Given the description of an element on the screen output the (x, y) to click on. 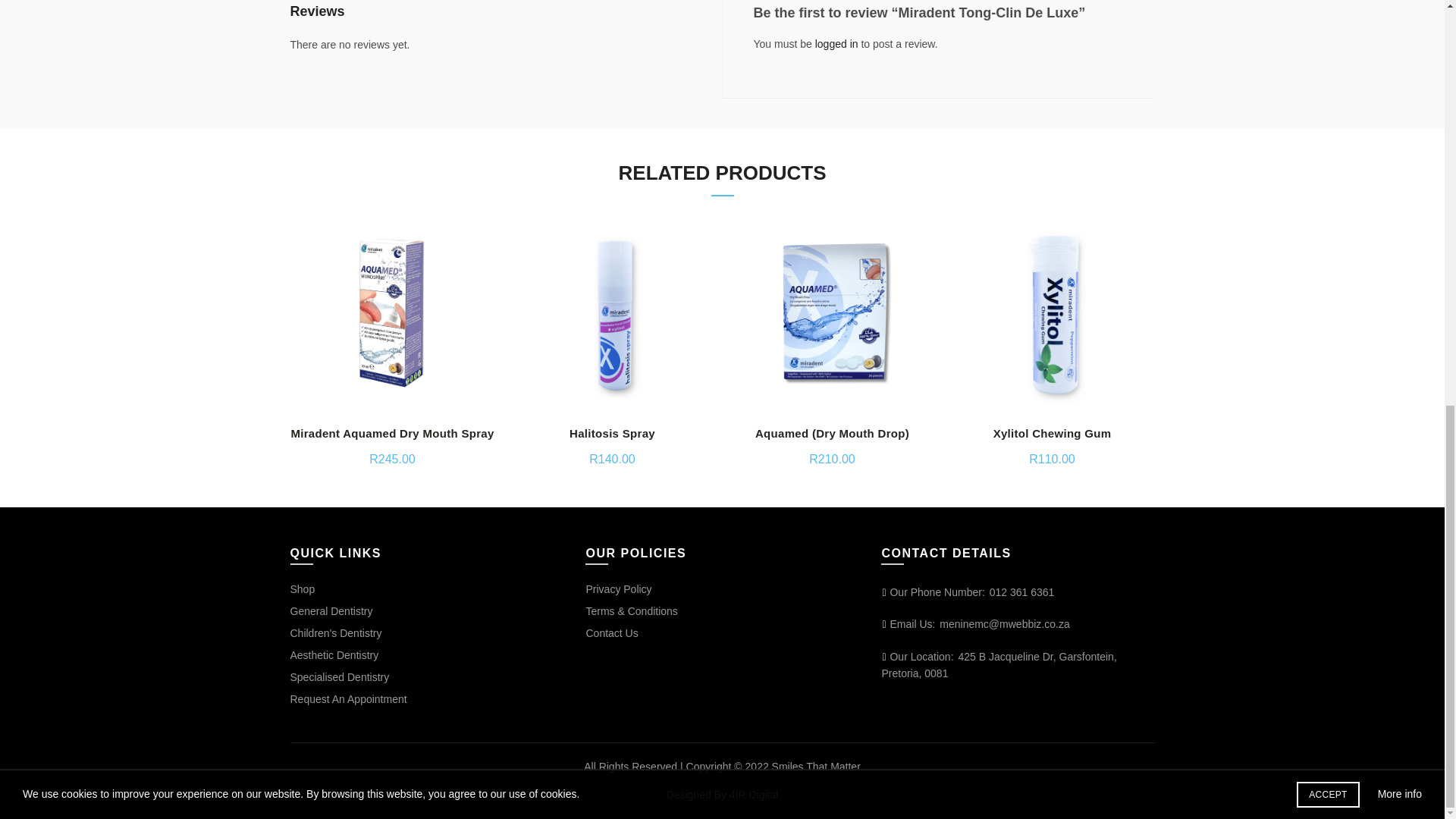
Qty (959, 48)
1 (959, 48)
